Given the description of an element on the screen output the (x, y) to click on. 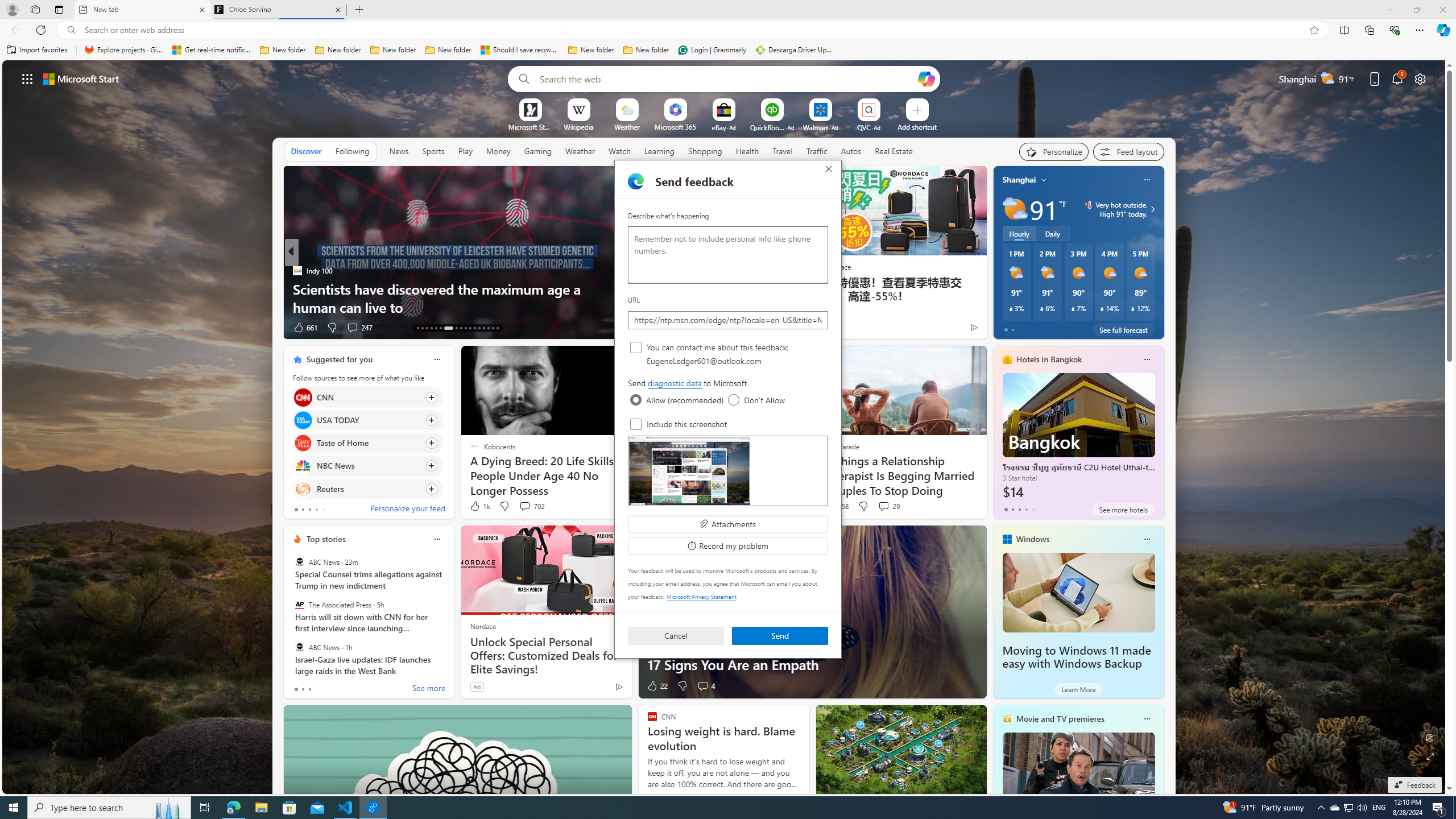
Sports (432, 151)
Add a site (916, 126)
Windows (1032, 538)
Shopping (705, 151)
Weather (580, 151)
User Promoted Notification Area (1347, 807)
AutomationID: tab-13 (417, 328)
Send (780, 635)
Hotels in Bangkok (1048, 359)
Wikipedia (578, 126)
View comments 4 Comment (703, 685)
Import favorites (36, 49)
